Given the description of an element on the screen output the (x, y) to click on. 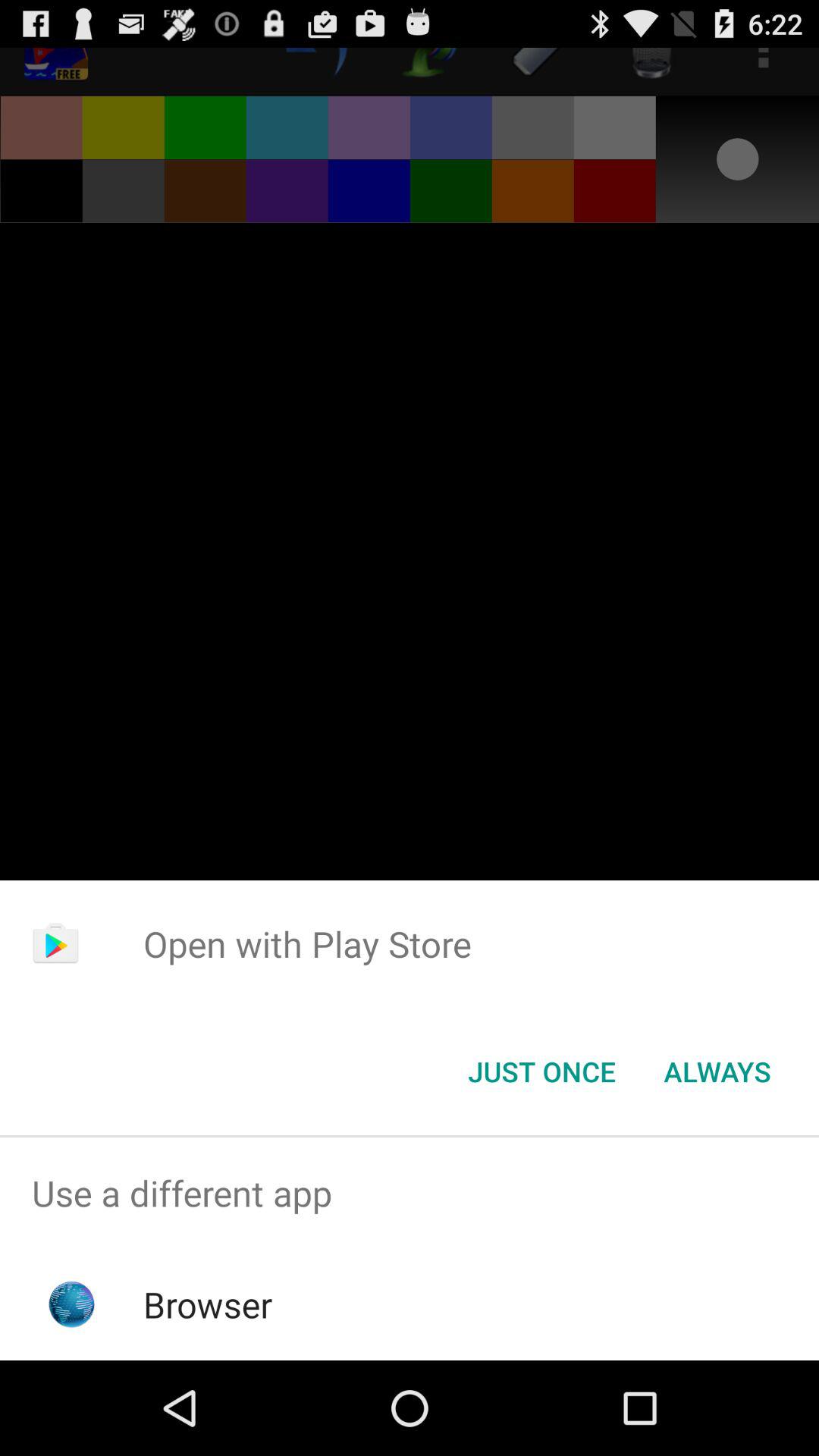
turn off browser app (207, 1304)
